Given the description of an element on the screen output the (x, y) to click on. 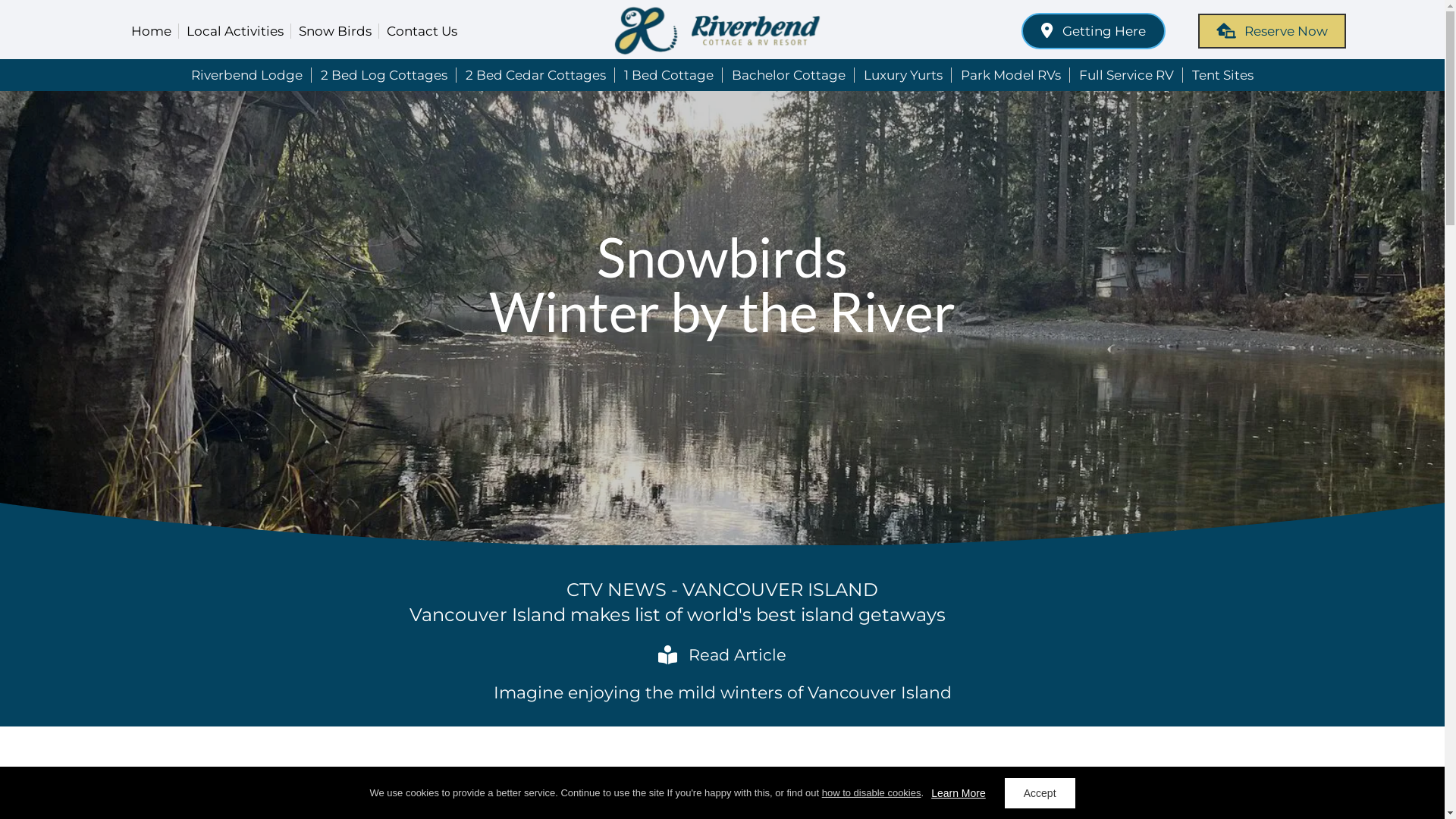
Tent Sites Element type: text (1222, 75)
Read Article Element type: text (721, 654)
Local Activities Element type: text (234, 30)
Luxury Yurts Element type: text (902, 75)
Snow Birds Element type: text (335, 30)
Contact Us Element type: text (421, 30)
Getting Here Element type: text (1092, 30)
2 Bed Cedar Cottages Element type: text (535, 75)
1 Bed Cottage Element type: text (668, 75)
Riverbend Lodge Element type: text (246, 75)
how to disable cookies Element type: text (871, 792)
Reserve Now Element type: text (1272, 30)
Park Model RVs Element type: text (1010, 75)
Bachelor Cottage Element type: text (788, 75)
Accept Element type: text (1039, 793)
Full Service RV Element type: text (1126, 75)
2 Bed Log Cottages Element type: text (383, 75)
Home Element type: text (150, 30)
Learn More Element type: text (958, 792)
